Given the description of an element on the screen output the (x, y) to click on. 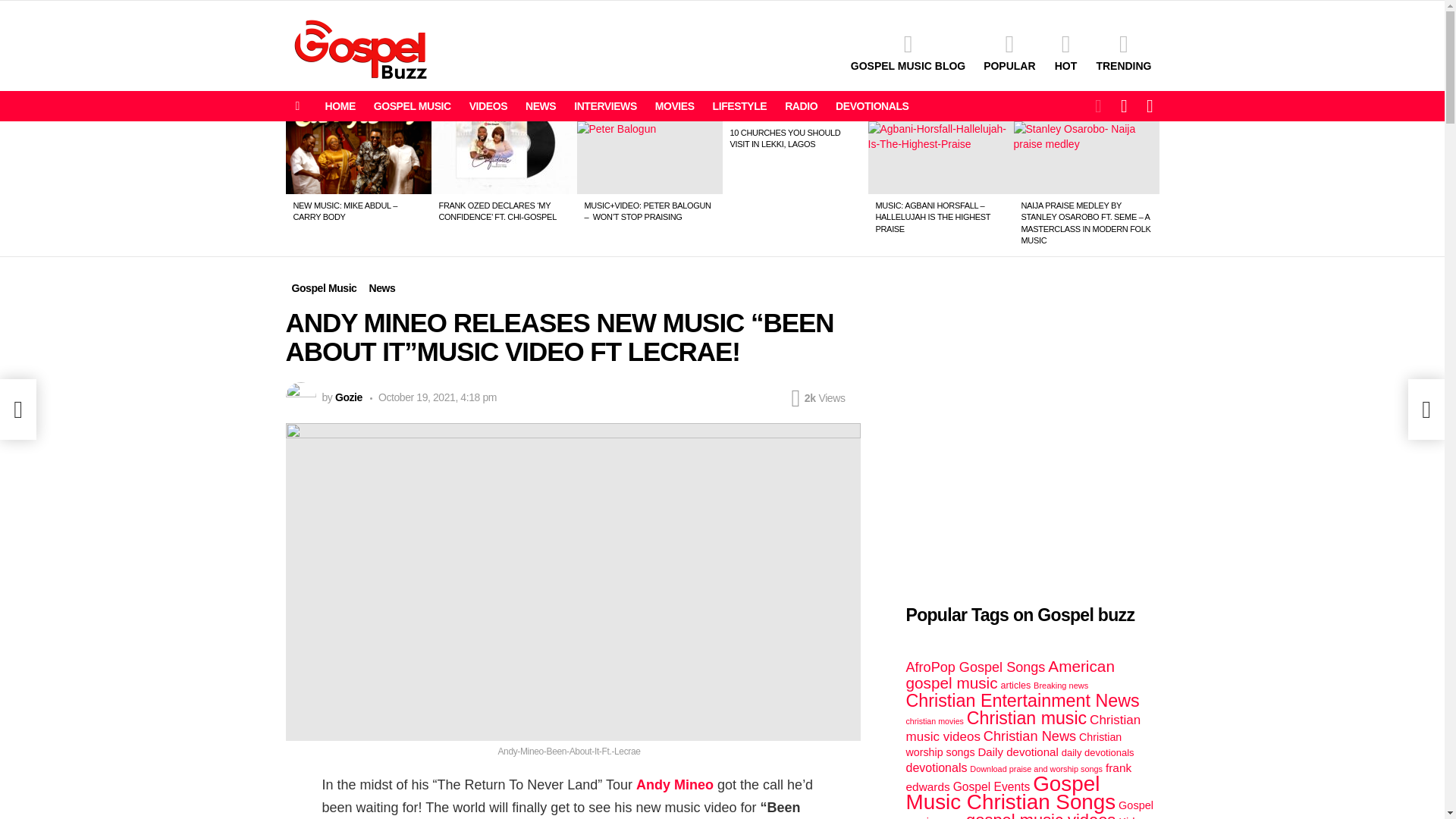
HOT (1064, 51)
Posts by Gozie (348, 397)
TRENDING (1122, 51)
HOME (339, 106)
Menu (296, 106)
INTERVIEWS (605, 106)
MOVIES (674, 106)
RADIO (801, 106)
GOSPEL MUSIC (412, 106)
NEWS (540, 106)
